Given the description of an element on the screen output the (x, y) to click on. 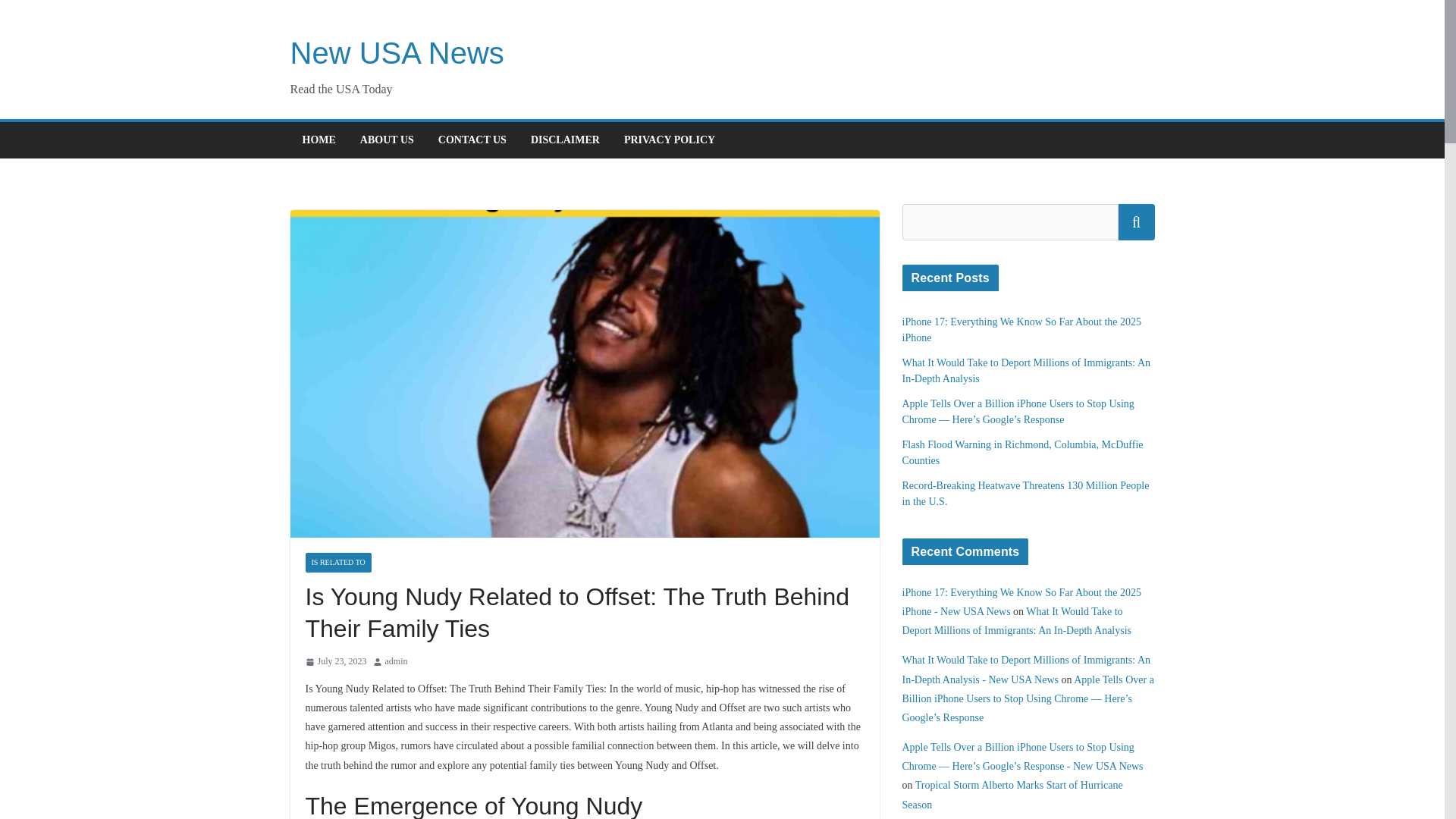
ABOUT US (386, 139)
PRIVACY POLICY (669, 139)
DISCLAIMER (565, 139)
iPhone 17: Everything We Know So Far About the 2025 iPhone (1021, 329)
Search (1136, 221)
HOME (317, 139)
CONTACT US (472, 139)
admin (396, 661)
New USA News (396, 52)
New USA  News (396, 52)
admin (396, 661)
Flash Flood Warning in Richmond, Columbia, McDuffie Counties (1022, 452)
